Given the description of an element on the screen output the (x, y) to click on. 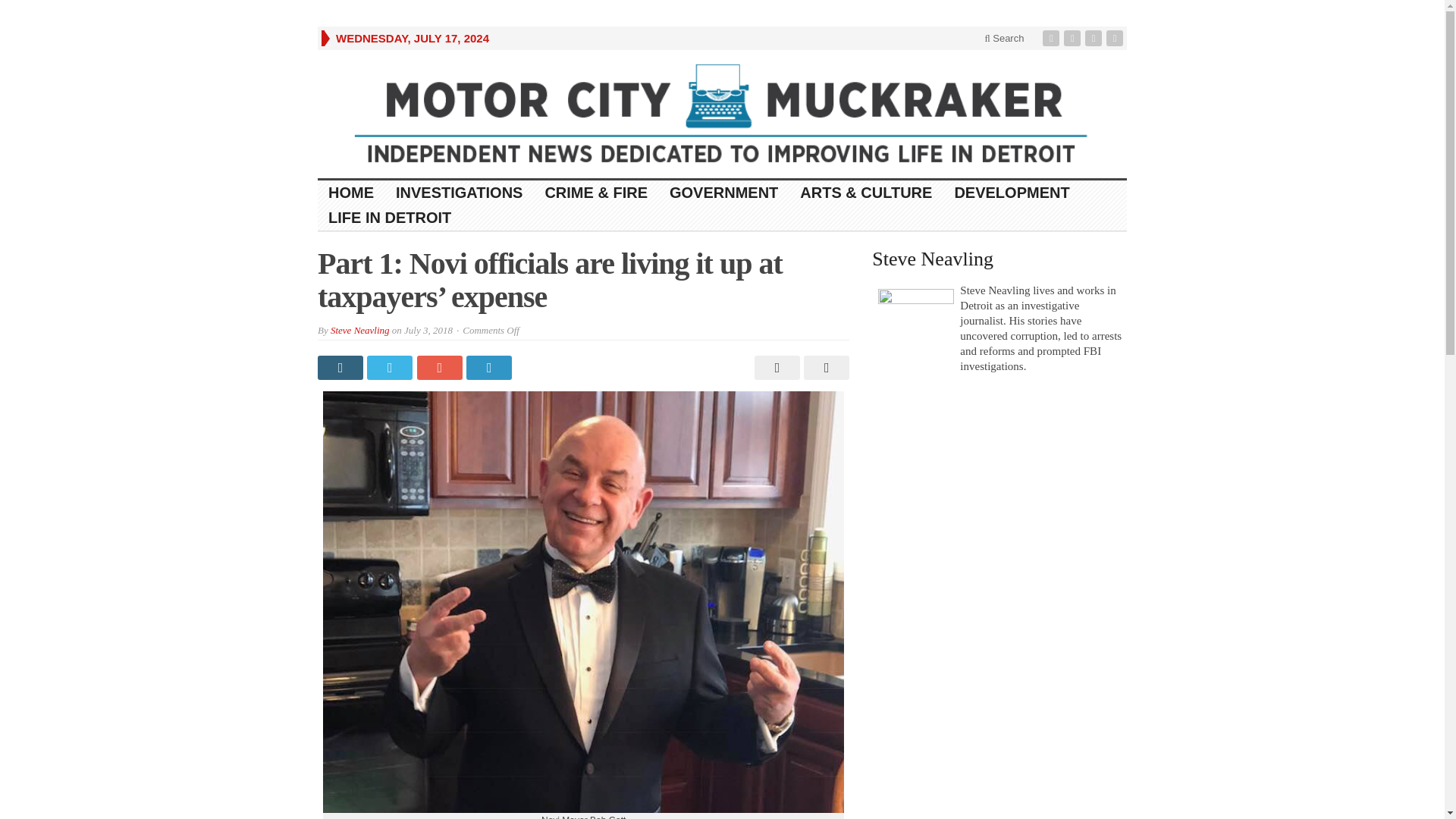
Facebook (1052, 37)
Search (1003, 37)
DEVELOPMENT (1011, 192)
Print This Post (775, 367)
Twitter (1073, 37)
Share on LinkedIn (490, 367)
INVESTIGATIONS (459, 192)
Share on Twitter (391, 367)
Send by Email (823, 367)
HOME (351, 192)
Share on Facebook (341, 367)
Youtube (1094, 37)
Site feed (1115, 37)
GOVERNMENT (724, 192)
